Given the description of an element on the screen output the (x, y) to click on. 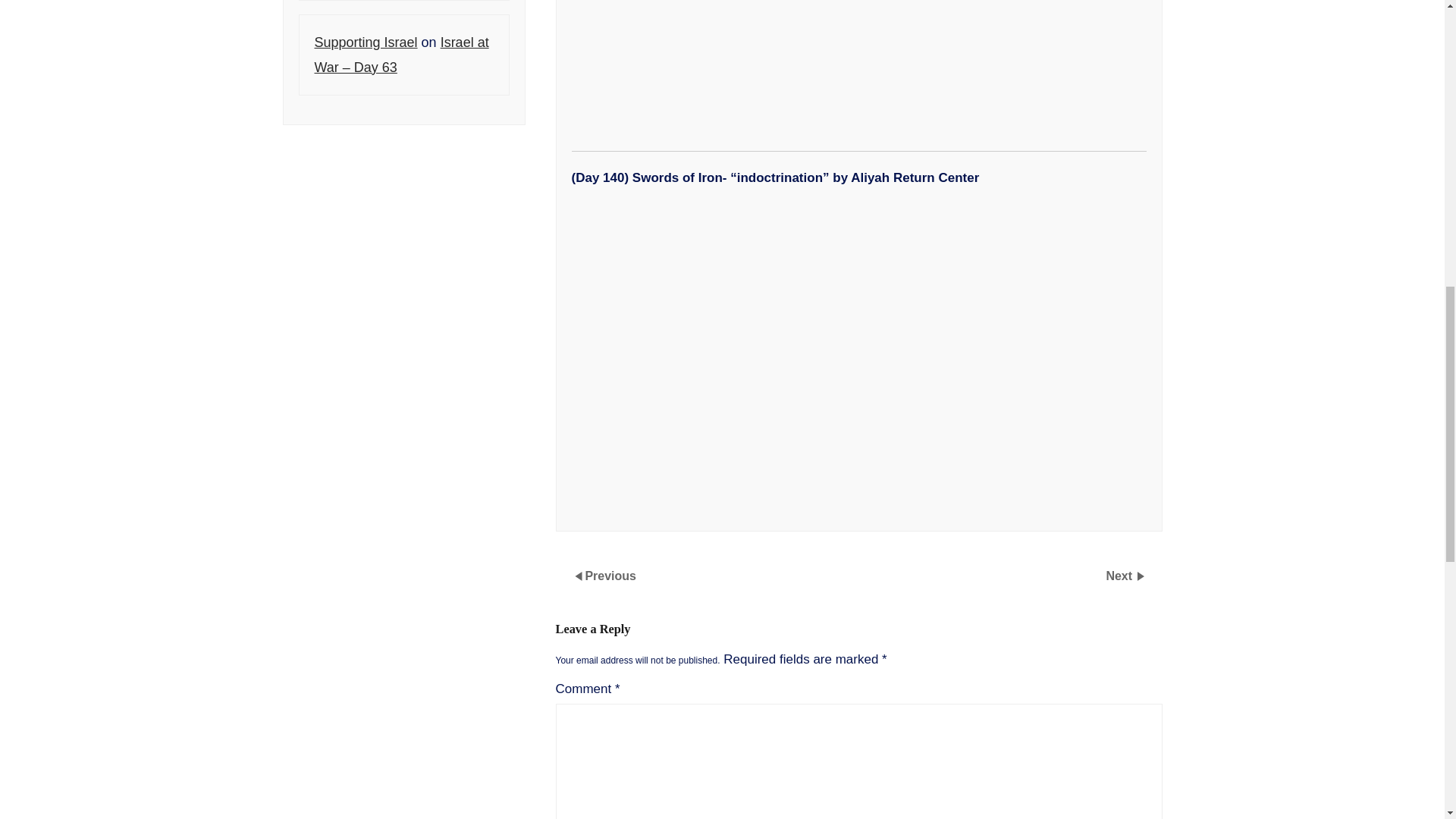
Supporting Israel (365, 42)
Next (1120, 575)
Previous (610, 575)
